Given the description of an element on the screen output the (x, y) to click on. 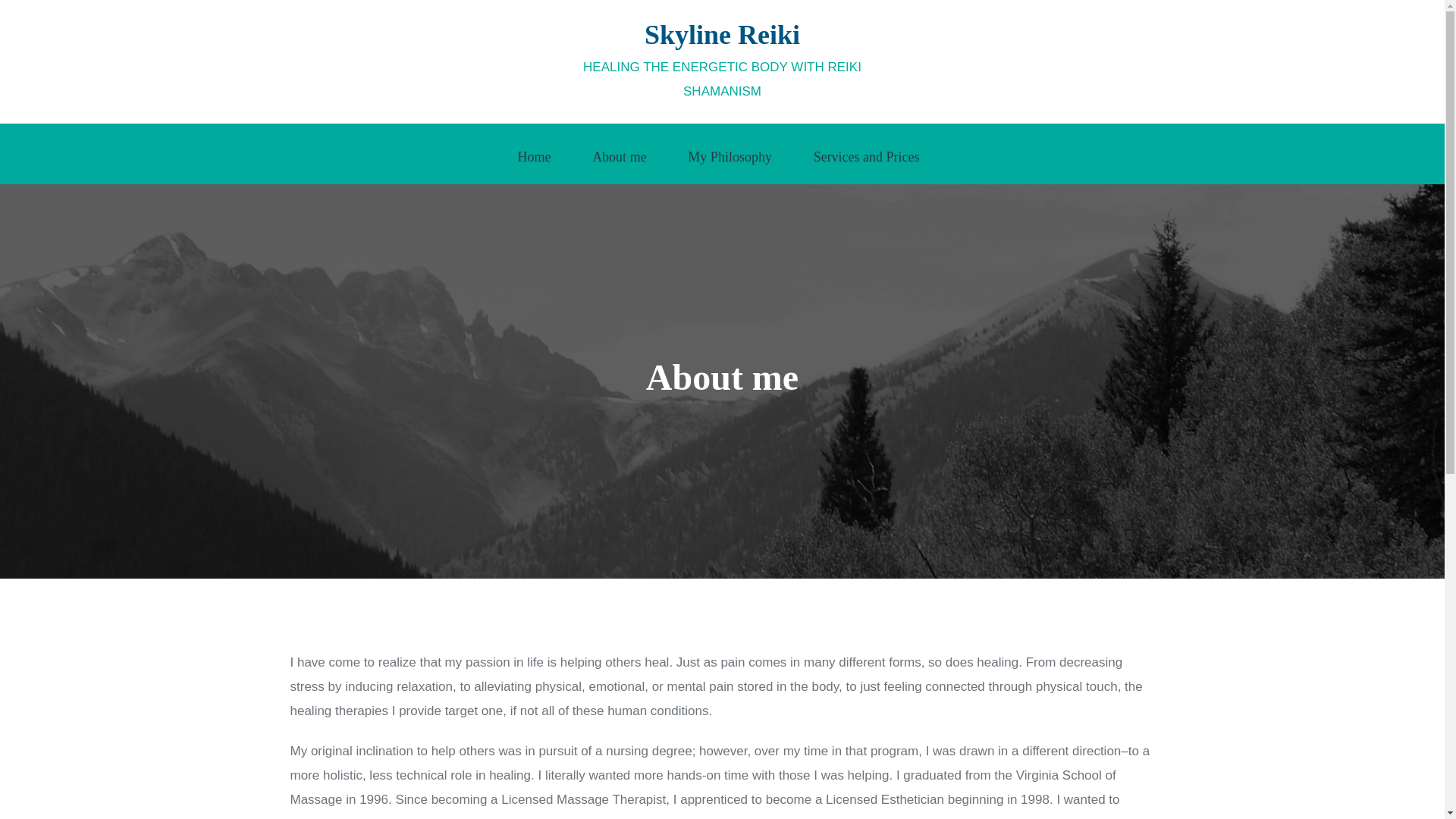
About me (622, 155)
Skyline Reiki (722, 34)
Services and Prices (869, 155)
Home (537, 155)
My Philosophy (733, 155)
